Given the description of an element on the screen output the (x, y) to click on. 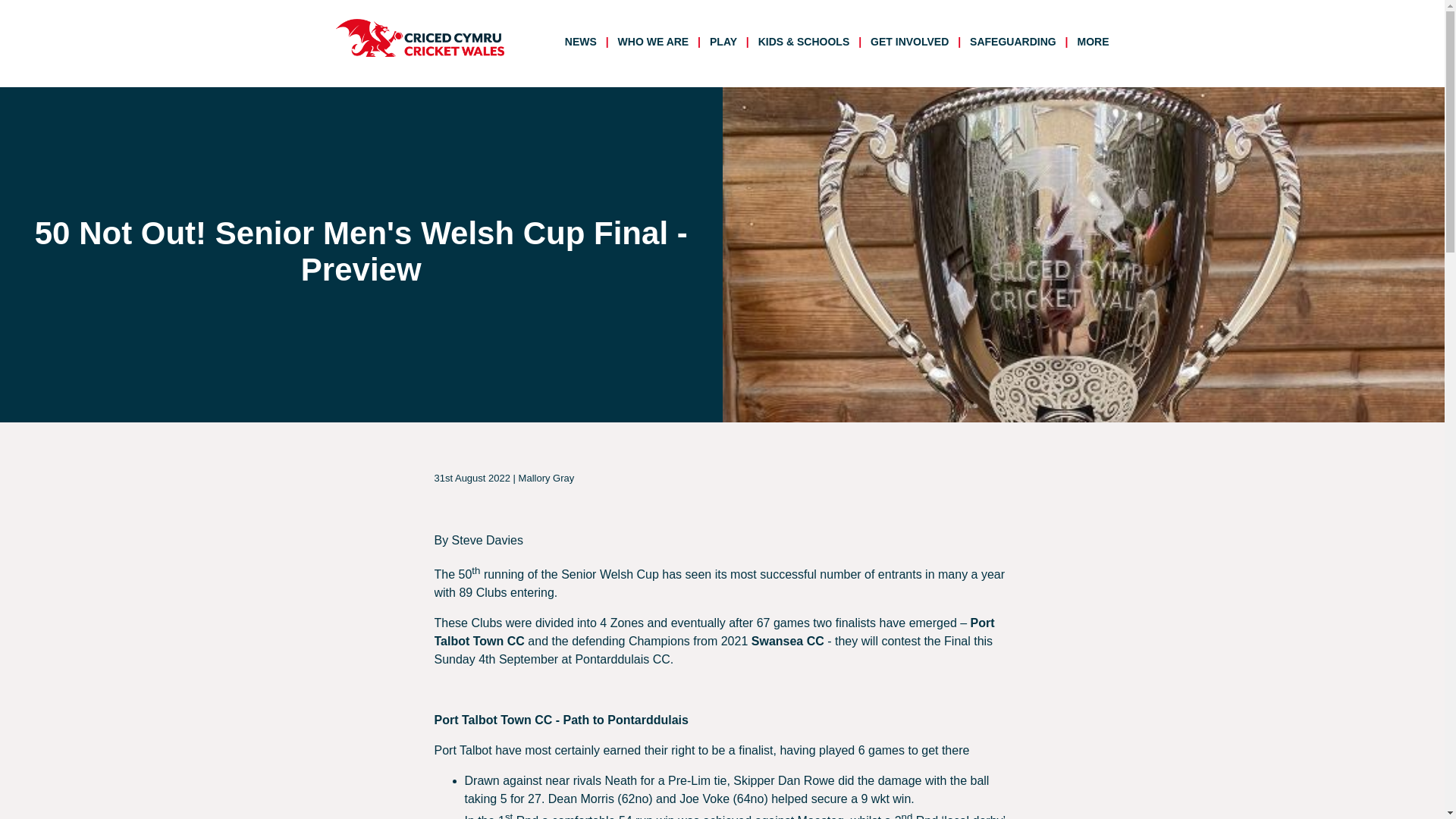
NEWS (583, 41)
